Given the description of an element on the screen output the (x, y) to click on. 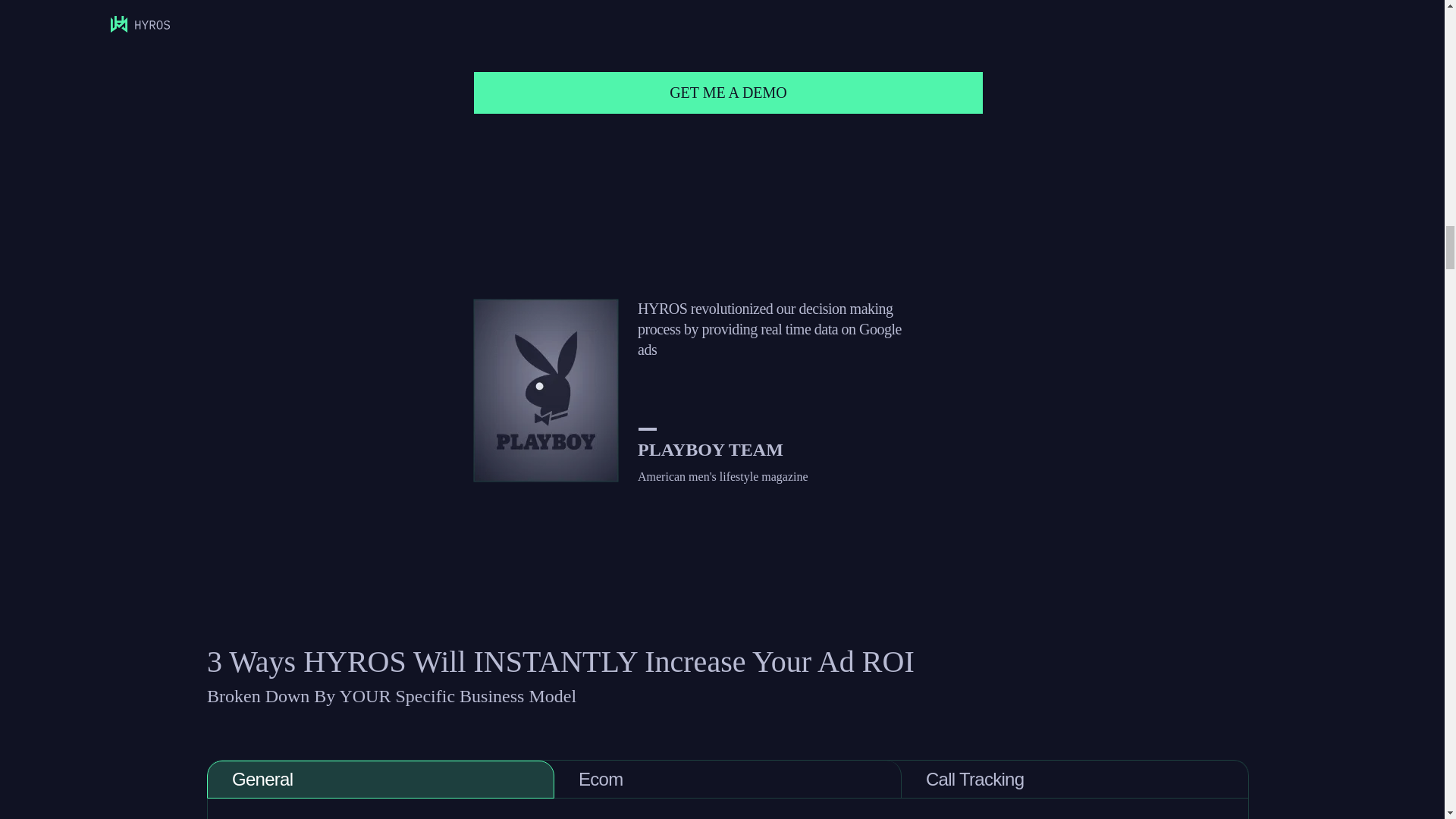
Ecom (727, 779)
GET ME A DEMO (729, 92)
General (380, 779)
Call Tracking (1075, 779)
